Given the description of an element on the screen output the (x, y) to click on. 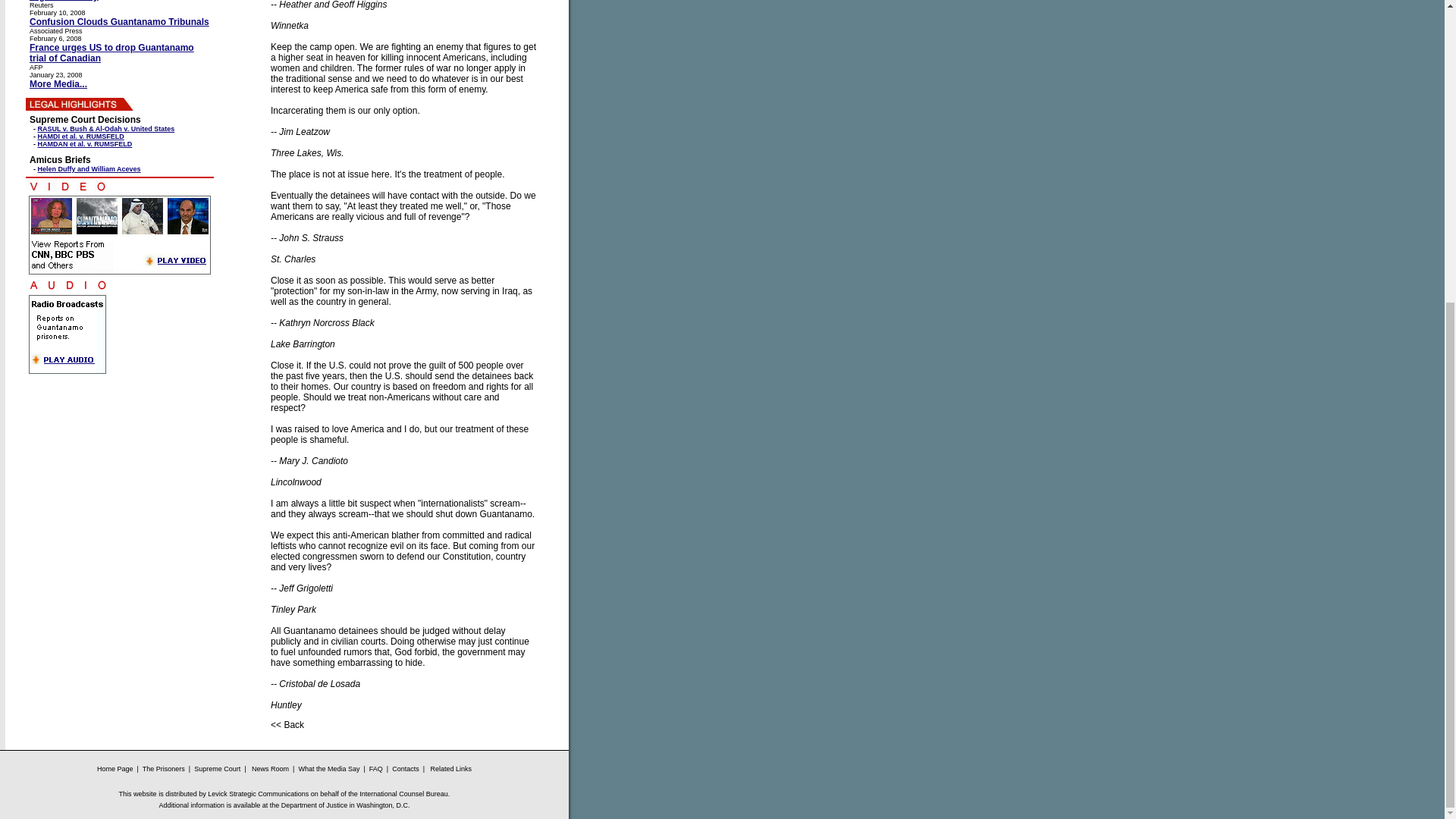
Confusion Clouds Guantanamo Tribunals (119, 21)
Related Links (451, 768)
What the Media Say (328, 768)
Home Page (114, 768)
More Media... (58, 83)
Levick Strategic Communications (258, 793)
Contacts (405, 768)
France urges US to drop Guantanamo trial of Canadian (111, 52)
News Room (270, 768)
HAMDAN et al. v. RUMSFELD (84, 144)
Back (293, 724)
Supreme Court (217, 768)
HAMDI et al. v. RUMSFELD (80, 136)
Helen Duffy and William Aceves (89, 168)
